Given the description of an element on the screen output the (x, y) to click on. 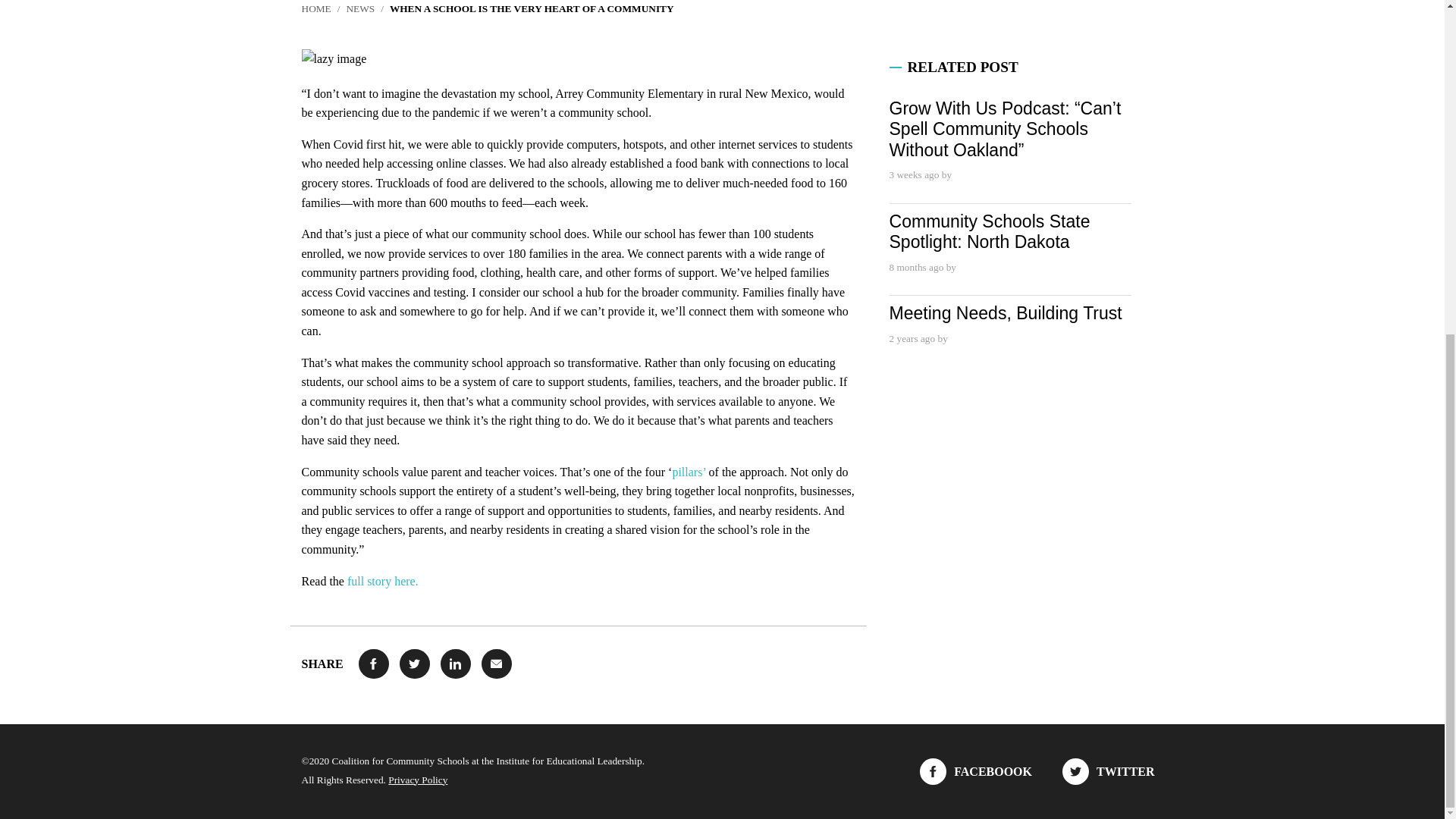
Home (316, 8)
When a School is the Very Heart of a Community (532, 8)
News (360, 8)
